Given the description of an element on the screen output the (x, y) to click on. 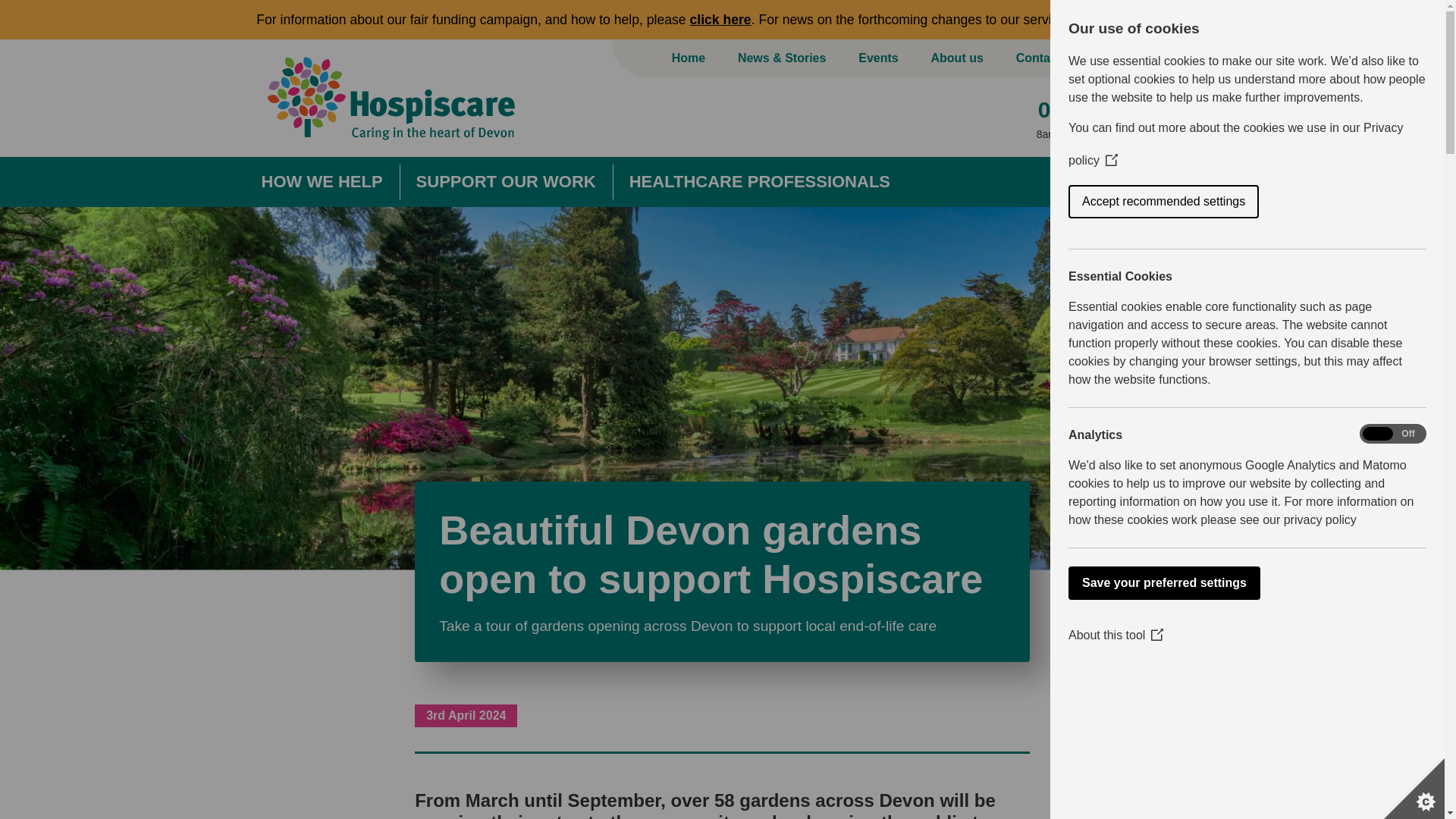
X (1413, 19)
click here (1153, 19)
SUPPORT OUR WORK (505, 182)
HOW WE HELP (320, 182)
HEALTHCARE PROFESSIONALS (758, 182)
Search (1116, 57)
Contact us (1047, 57)
click here (719, 19)
About us (957, 57)
Events (878, 57)
